Given the description of an element on the screen output the (x, y) to click on. 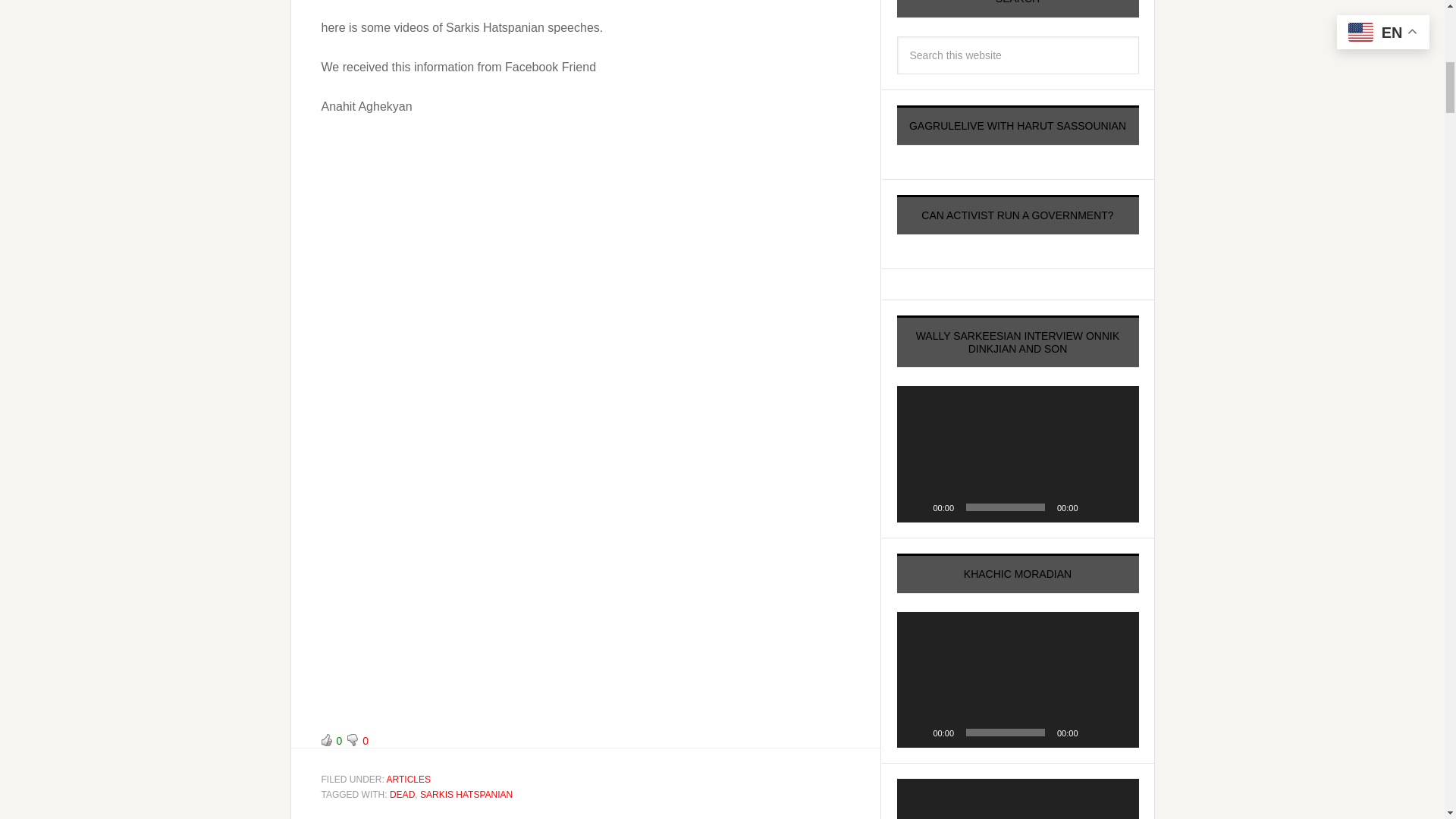
DEAD (402, 794)
SARKIS HATSPANIAN (466, 794)
ARTICLES (408, 778)
